Given the description of an element on the screen output the (x, y) to click on. 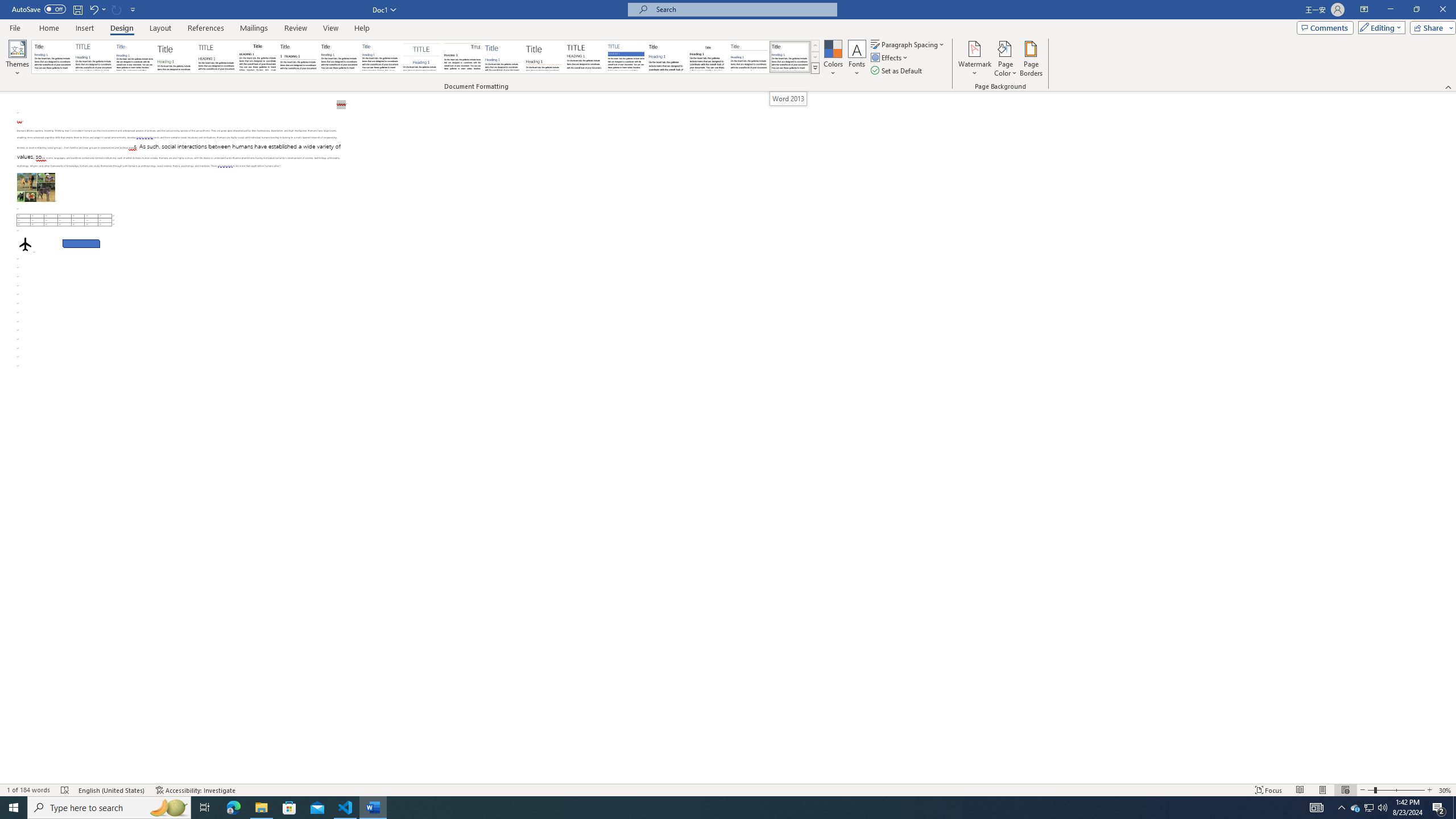
Accessibility Checker Accessibility: Investigate (195, 790)
Black & White (Capitalized) (216, 56)
Fonts (856, 58)
Set as Default (897, 69)
Row up (814, 45)
Zoom 30% (1445, 790)
Watermark (974, 58)
Effects (890, 56)
Word 2013 (790, 56)
Microsoft search (742, 9)
